Given the description of an element on the screen output the (x, y) to click on. 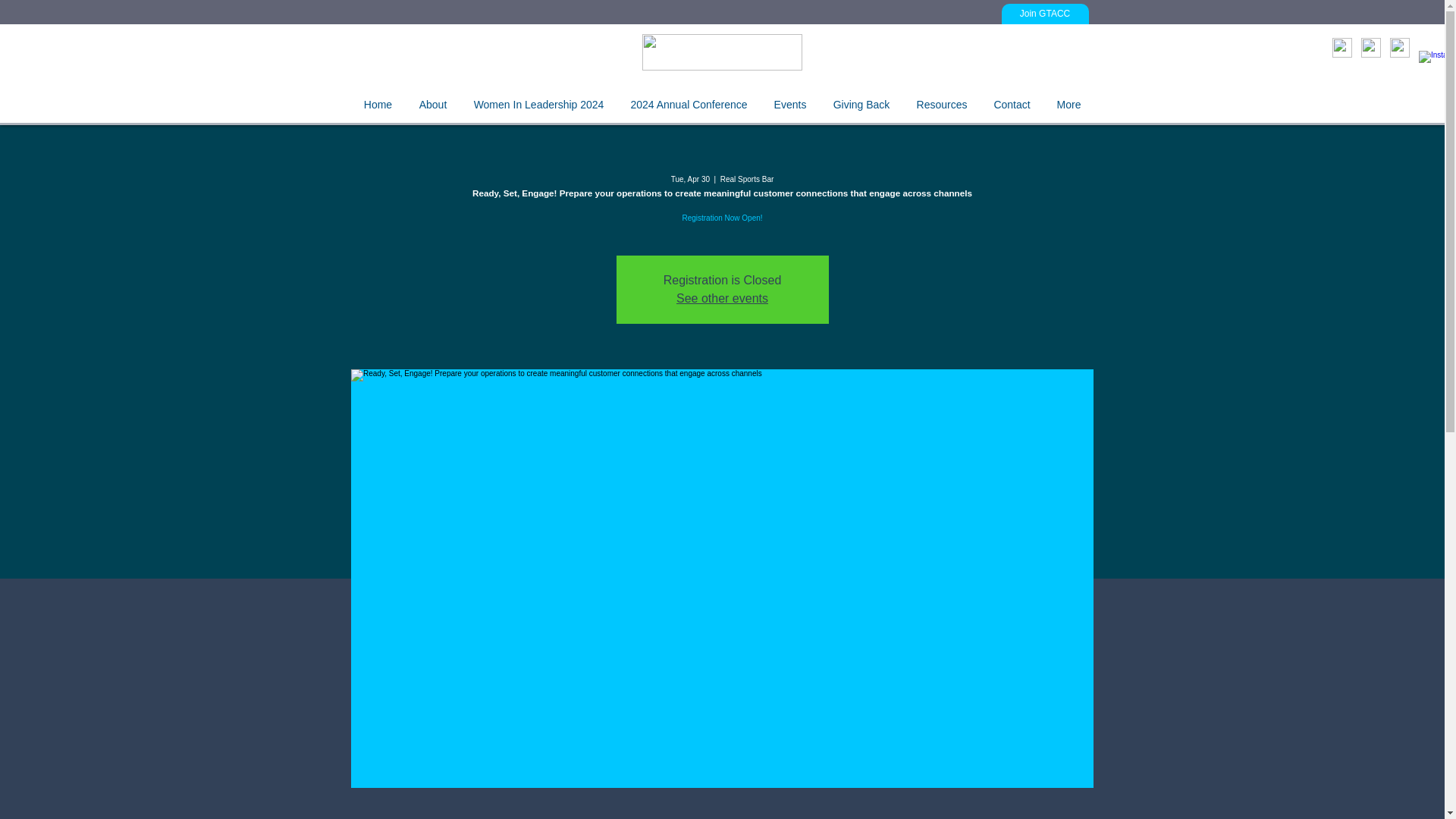
See other events (722, 297)
Women In Leadership 2024 (537, 104)
Events (789, 104)
Join GTACC (1044, 14)
2024 Annual Conference (688, 104)
About (432, 104)
Giving Back (860, 104)
Resources (940, 104)
Home (377, 104)
Contact (1010, 104)
